Given the description of an element on the screen output the (x, y) to click on. 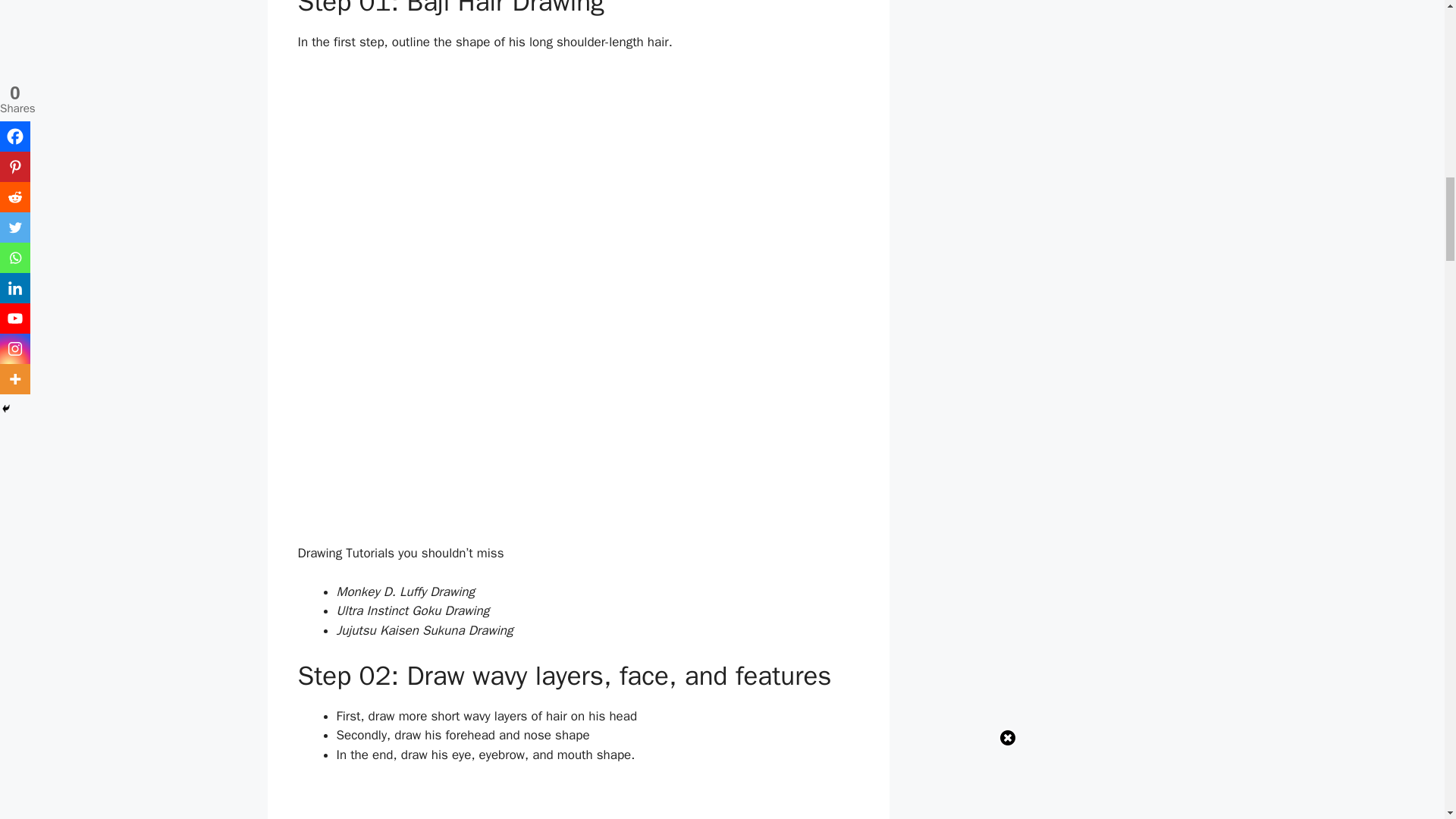
Jujutsu Kaisen Sukuna Drawing (424, 630)
Ultra Instinct Goku Drawing (412, 610)
Monkey D. Luffy Drawing (405, 591)
